Given the description of an element on the screen output the (x, y) to click on. 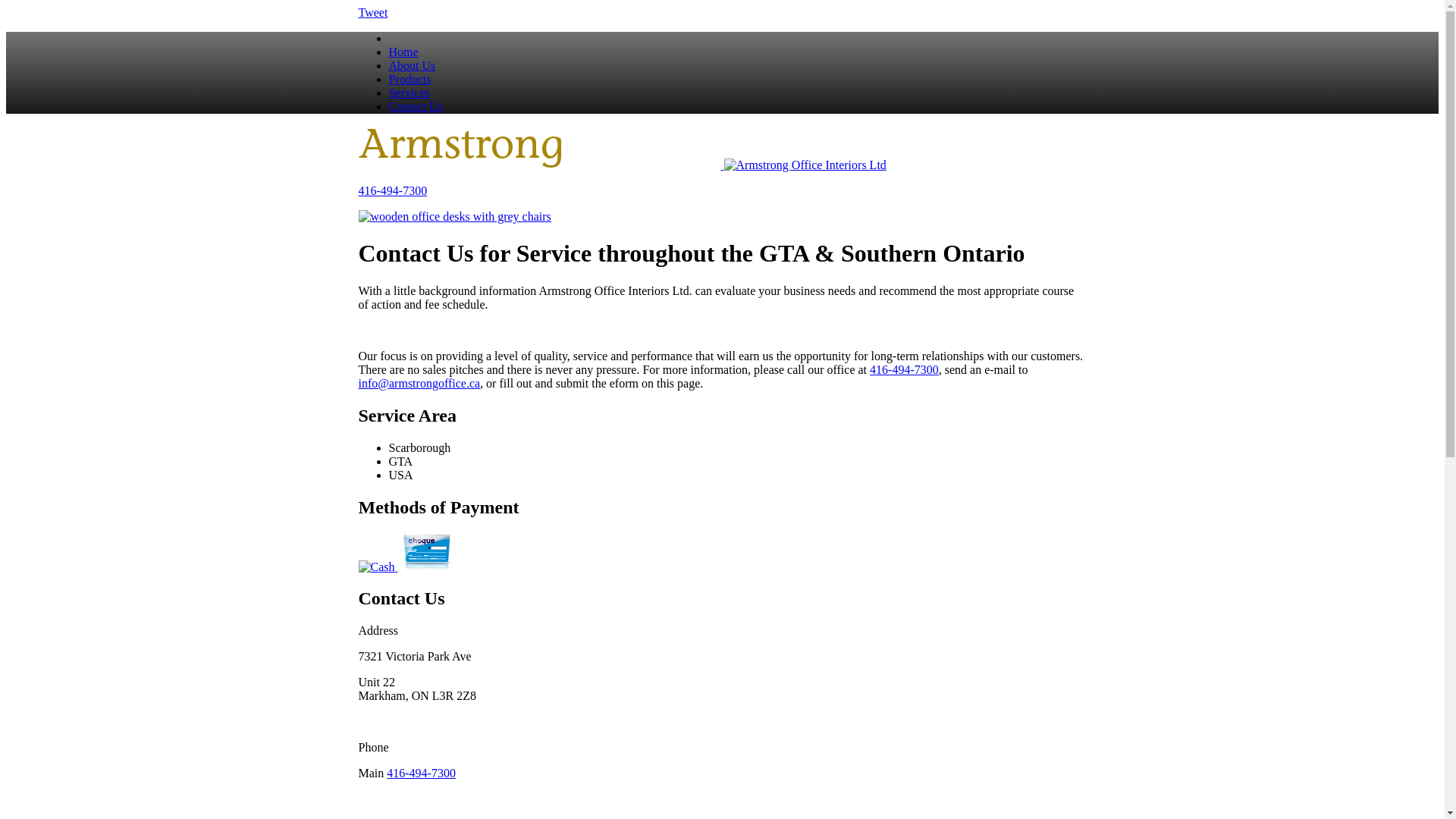
info@armstrongoffice.ca Element type: text (418, 382)
Products Element type: text (409, 78)
Close Menu Element type: hover (736, 38)
Contact Us Element type: text (415, 106)
About Us Element type: text (411, 65)
Services Element type: text (408, 92)
Home Element type: text (402, 51)
Tweet Element type: text (372, 12)
